Given the description of an element on the screen output the (x, y) to click on. 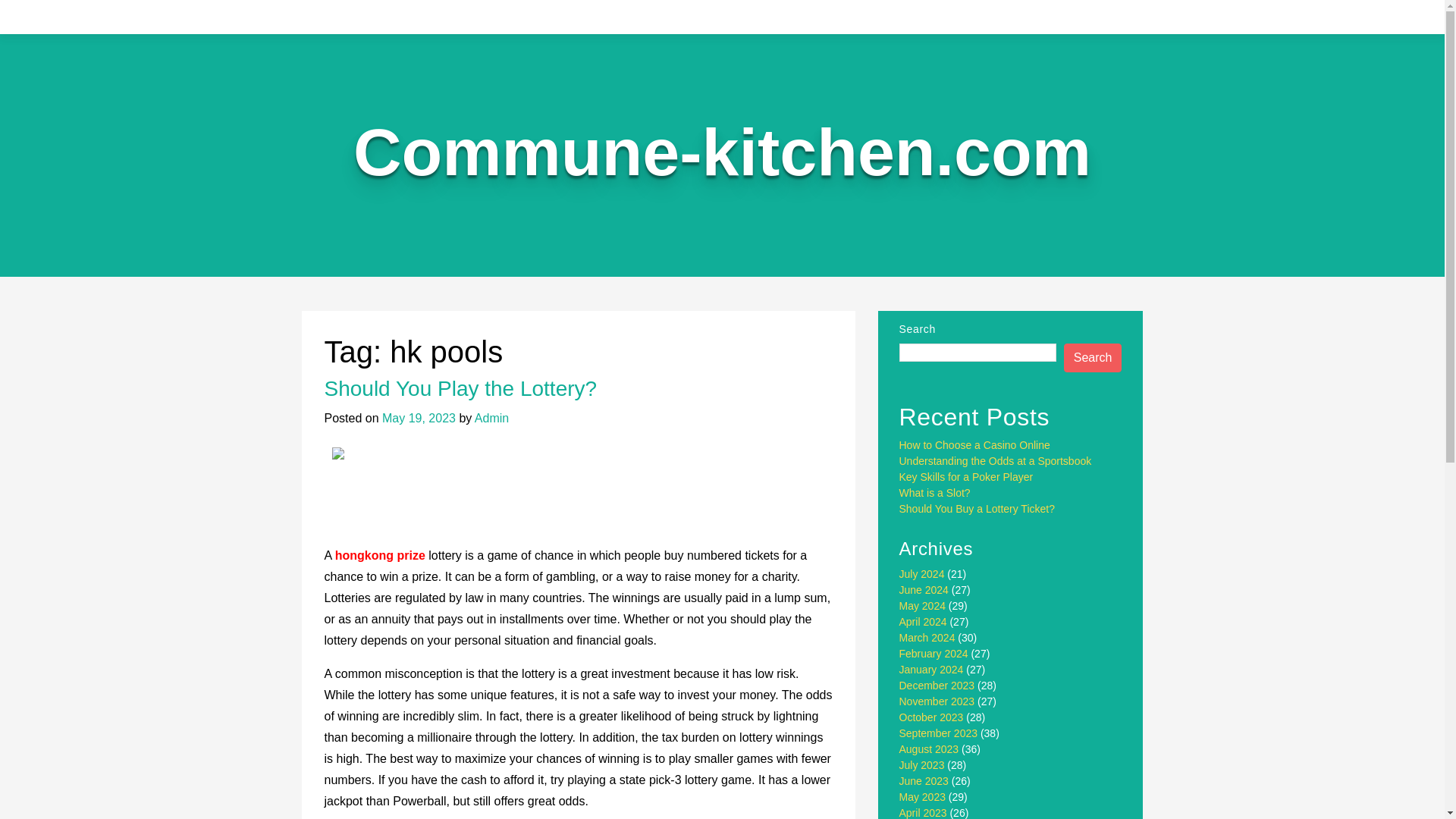
Should You Play the Lottery? (460, 388)
May 19, 2023 (418, 418)
hongkong prize (379, 554)
December 2023 (937, 685)
April 2024 (923, 621)
June 2023 (924, 780)
How to Choose a Casino Online (974, 444)
September 2023 (938, 733)
February 2024 (933, 653)
July 2023 (921, 765)
